Given the description of an element on the screen output the (x, y) to click on. 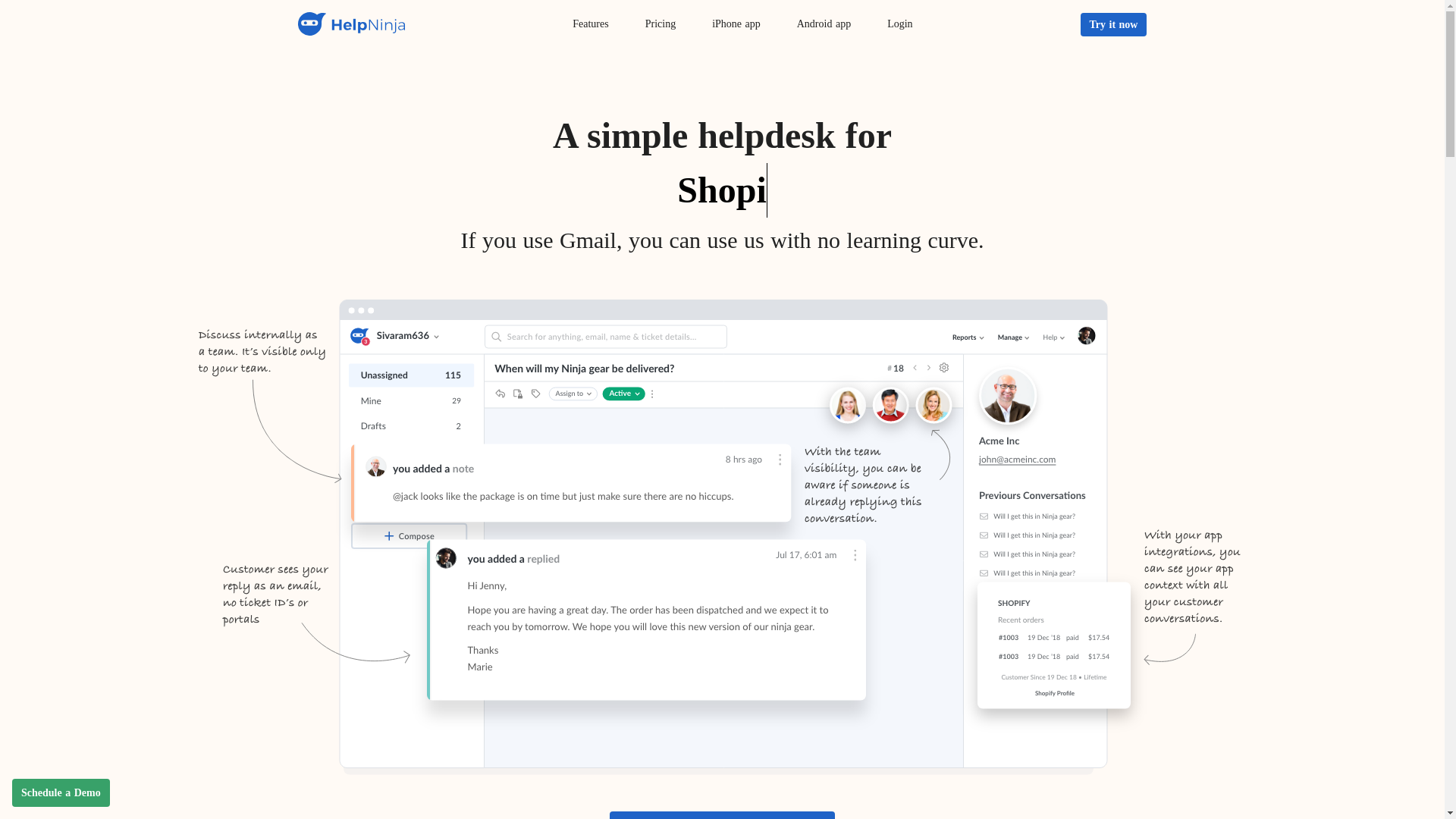
Pricing (660, 24)
Login (899, 24)
Android app (823, 24)
Features (590, 24)
Try it now (1113, 24)
Try it free (722, 815)
Schedule a Demo (60, 792)
iPhone app (736, 24)
